Given the description of an element on the screen output the (x, y) to click on. 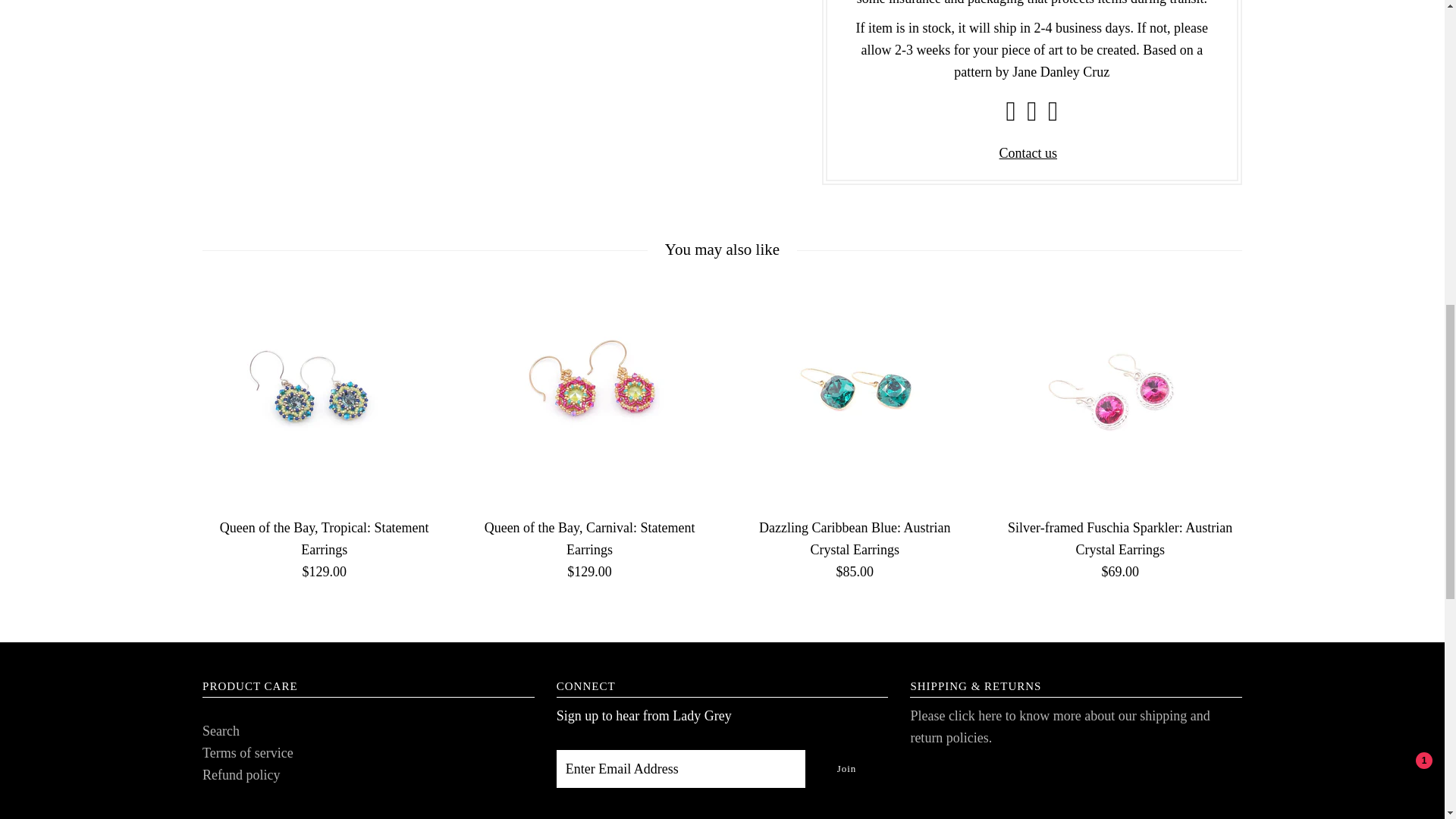
Join (846, 768)
